Given the description of an element on the screen output the (x, y) to click on. 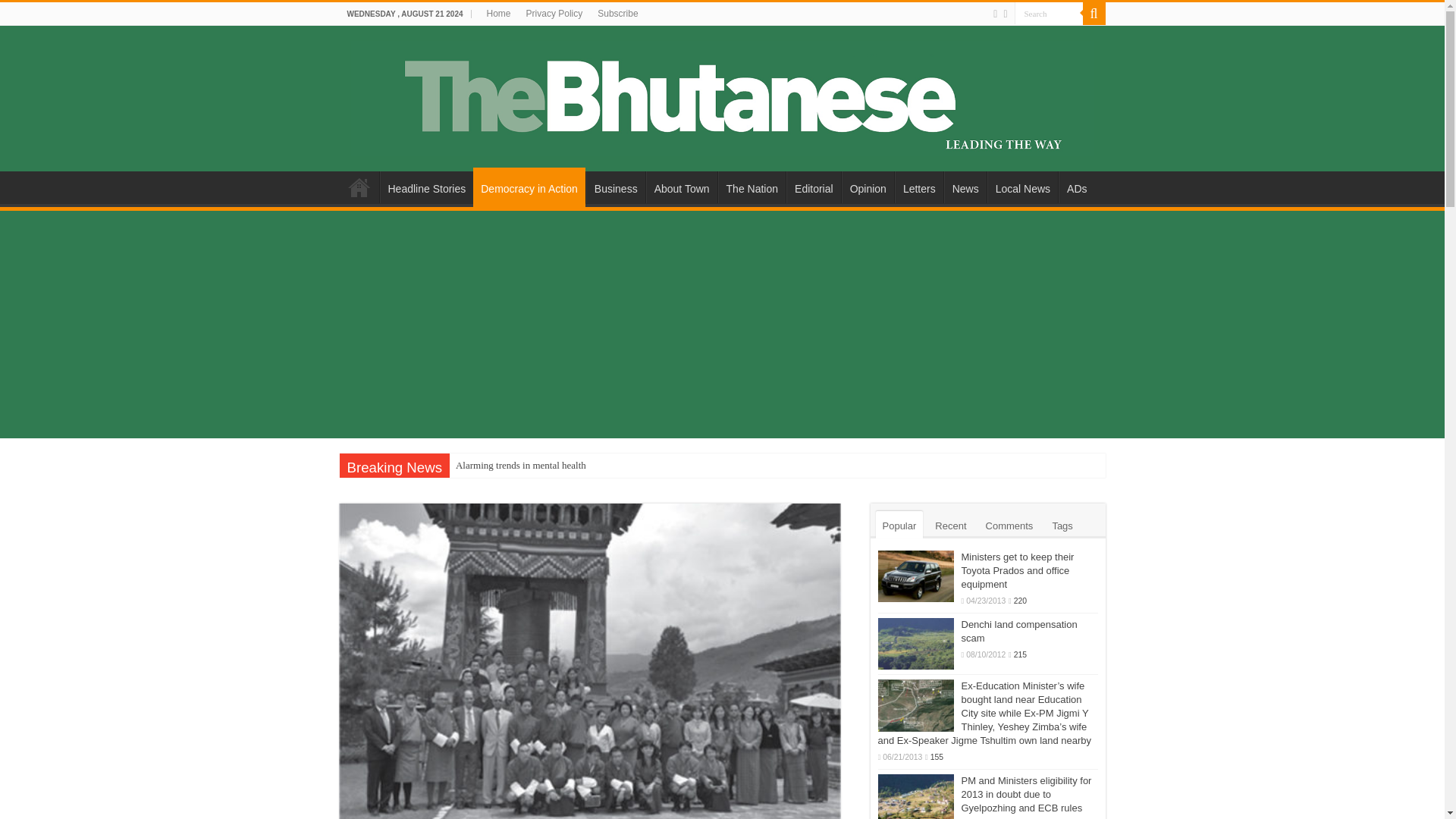
About Town (681, 187)
Opinion (867, 187)
Search (1094, 13)
Letters (919, 187)
Alarming trends in mental health (520, 465)
Home (498, 13)
Local News (1022, 187)
Editorial (813, 187)
Privacy Policy (554, 13)
